Given the description of an element on the screen output the (x, y) to click on. 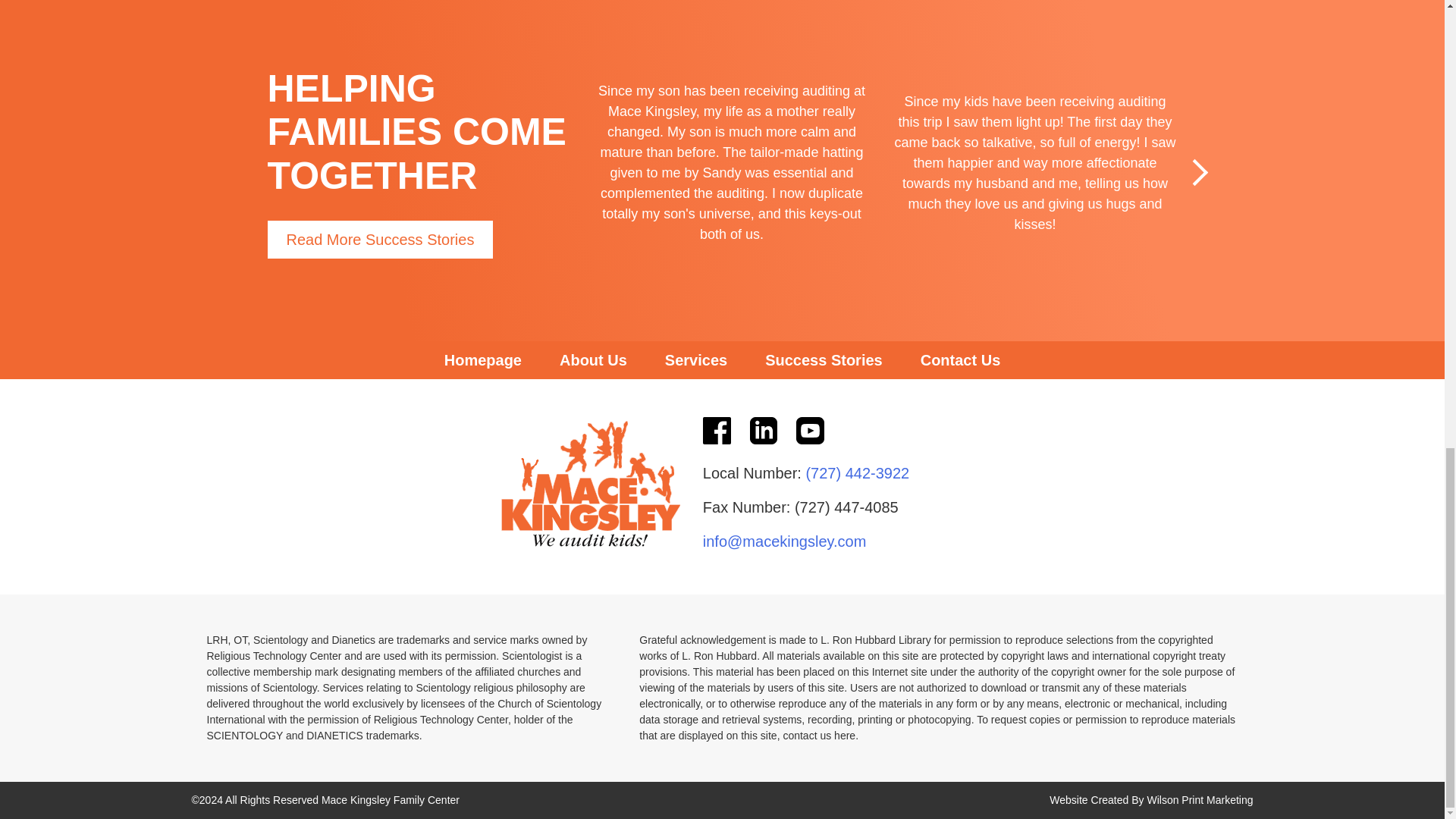
Success Stories (823, 360)
Homepage (482, 360)
Services (695, 360)
Read More Success Stories (379, 239)
Wilson Print Marketing (1199, 799)
About Us (593, 360)
Contact Us (960, 360)
